Given the description of an element on the screen output the (x, y) to click on. 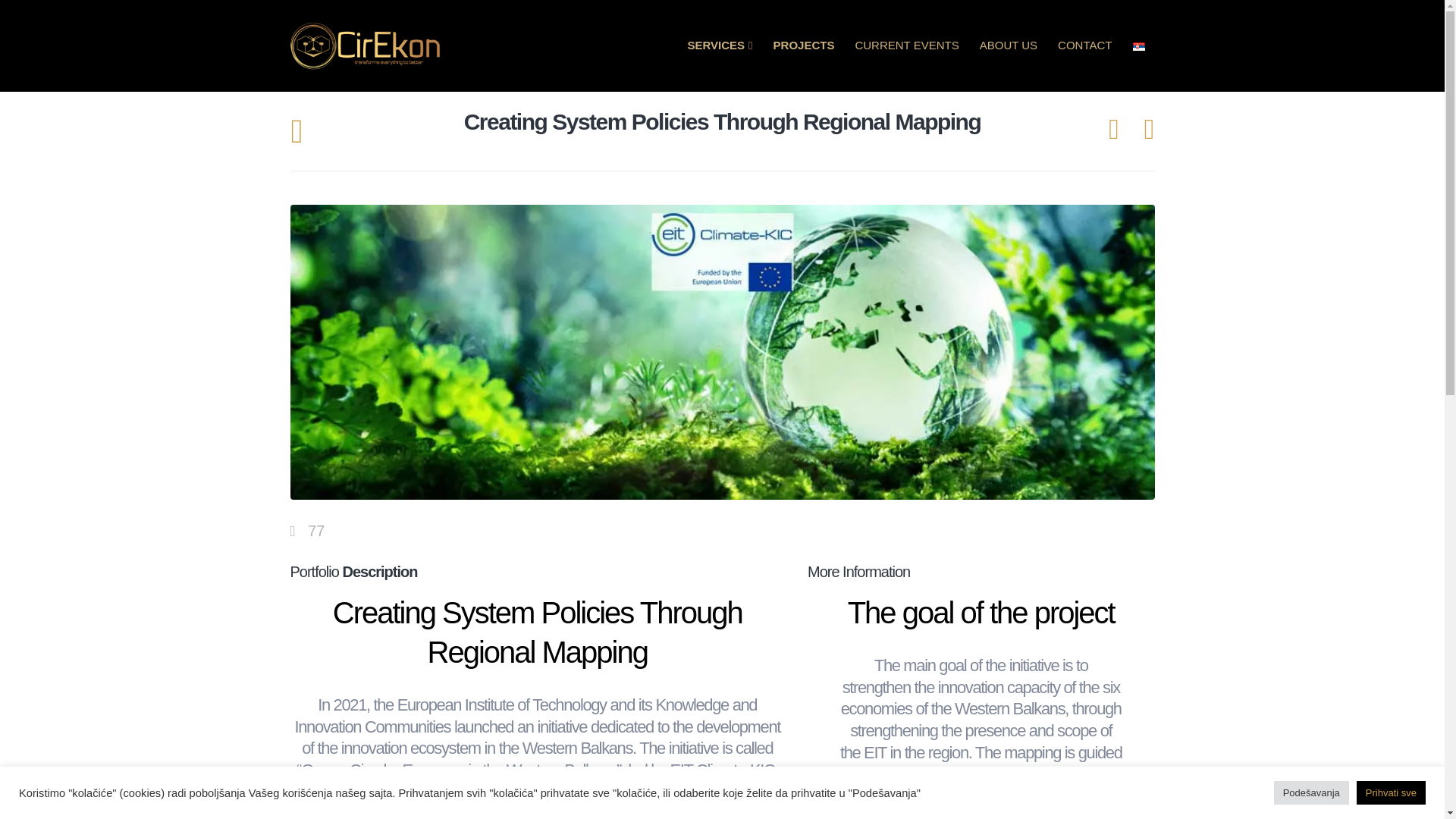
PROJECTS (803, 45)
CirEkon (400, 791)
CONTACT (1084, 45)
SERVICES (720, 45)
Cirekon - Center for Circular Economics (365, 45)
ABOUT US (1007, 45)
CURRENT EVENTS (906, 45)
